Given the description of an element on the screen output the (x, y) to click on. 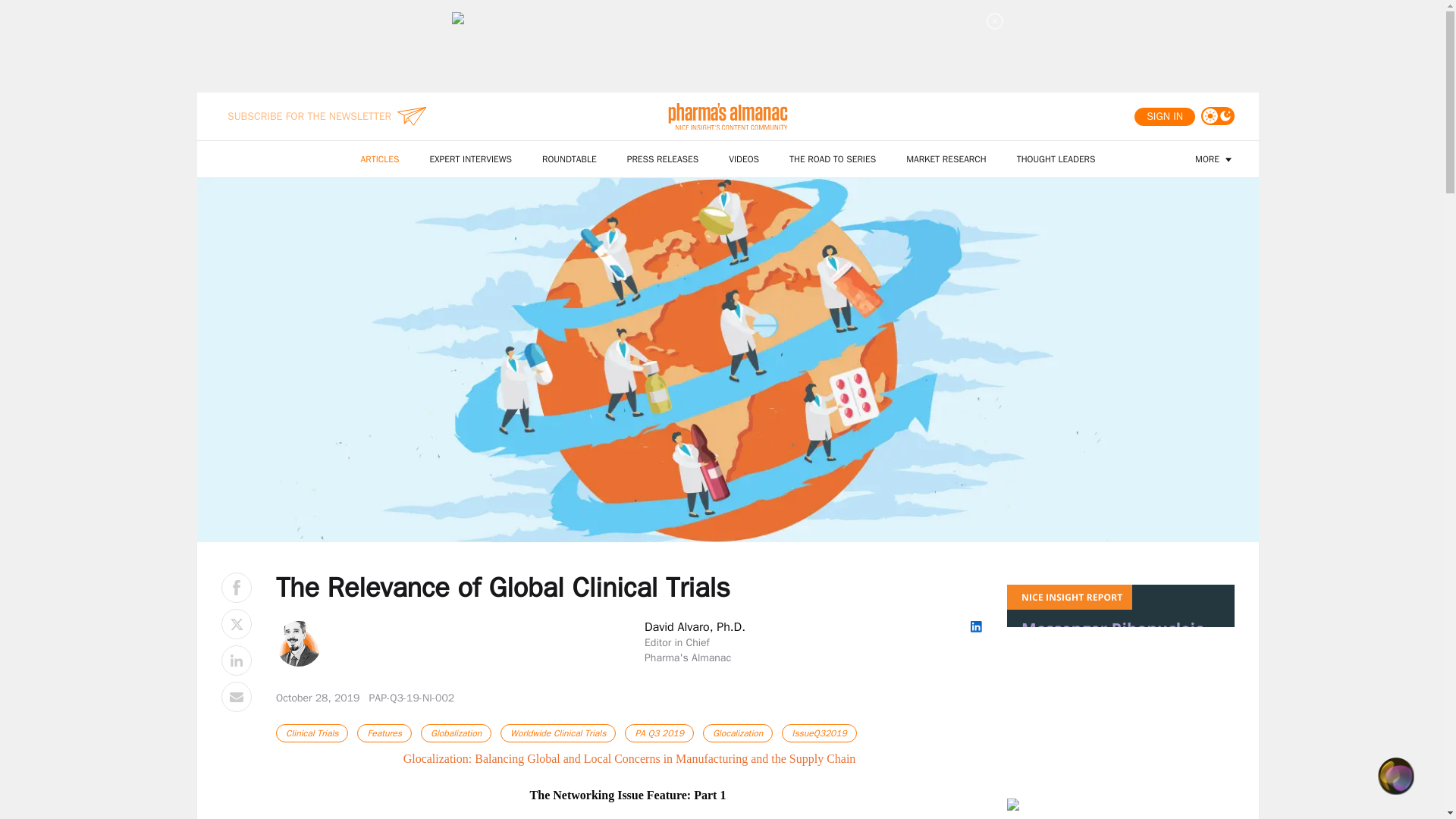
PA Q3 2019 (659, 732)
Clinical Trials (311, 732)
IssueQ32019 (818, 732)
MORE (1214, 158)
MARKET RESEARCH (946, 158)
ARTICLES (380, 158)
THE ROAD TO SERIES (832, 158)
THOUGHT LEADERS (1056, 158)
Worldwide Clinical Trials (557, 732)
SUBSCRIBE FOR THE NEWSLETTER (309, 116)
PRESS RELEASES (662, 158)
Globalization (456, 732)
EXPERT INTERVIEWS (470, 158)
Glocalization (738, 732)
SIGN IN (1164, 116)
